Given the description of an element on the screen output the (x, y) to click on. 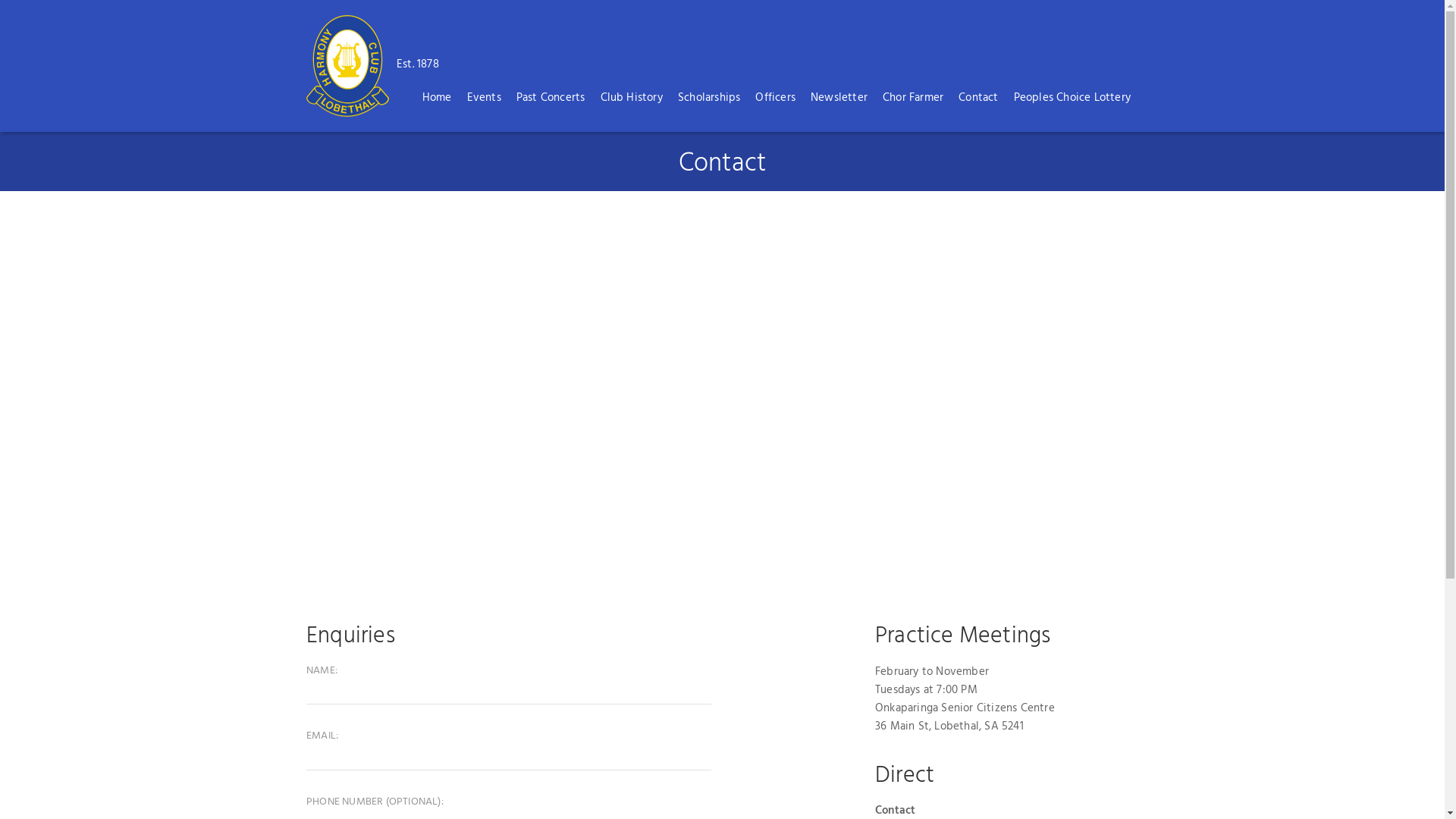
Officers Element type: text (775, 96)
Newsletter Element type: text (839, 96)
Chor Farmer Element type: text (912, 96)
Scholarships Element type: text (708, 96)
Contact Element type: text (977, 96)
Events Element type: text (483, 96)
Peoples Choice Lottery Element type: text (1072, 96)
Home Element type: text (436, 96)
Past Concerts Element type: text (550, 96)
Club History Element type: text (631, 96)
